Given the description of an element on the screen output the (x, y) to click on. 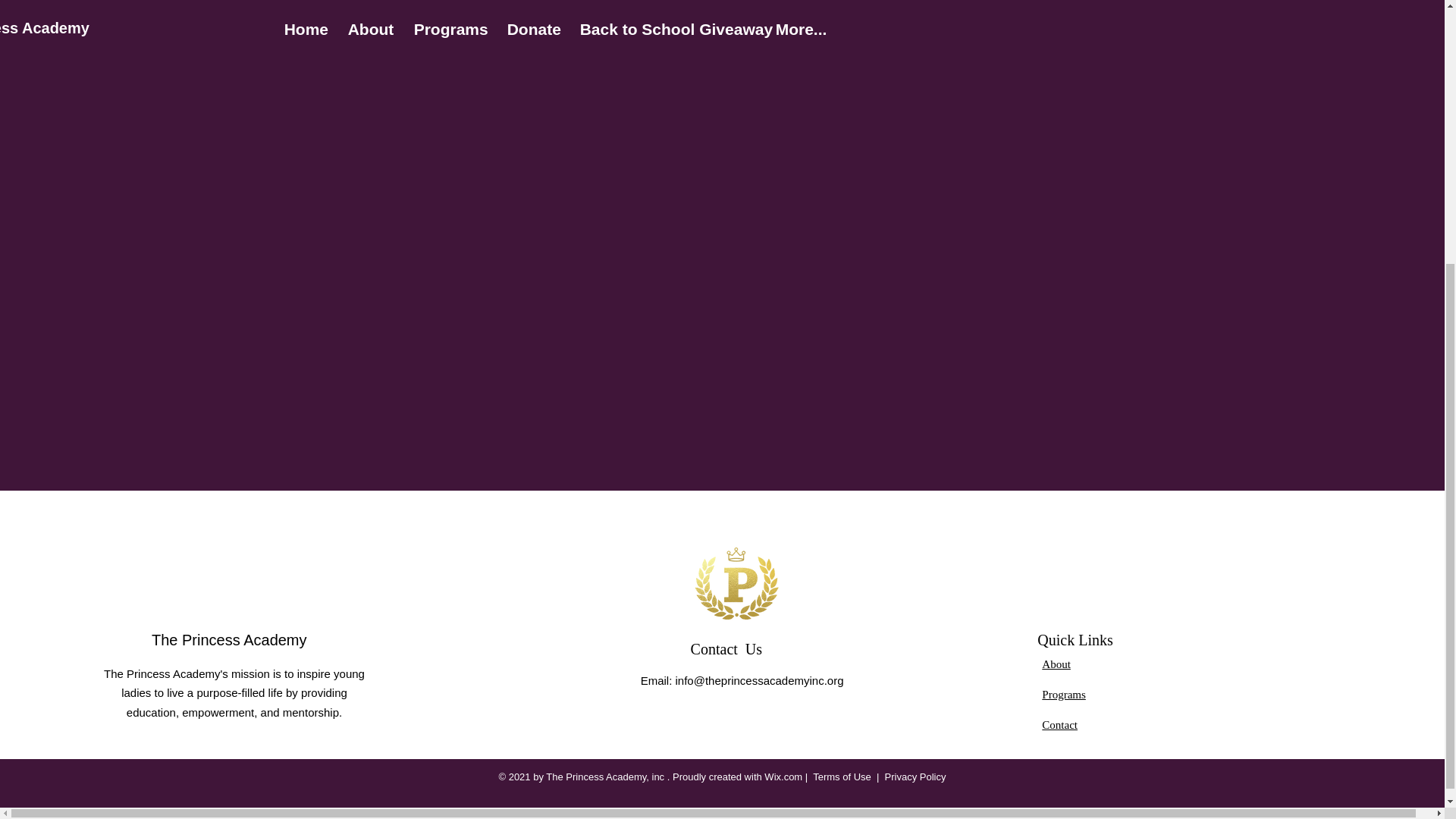
Terms of Use (841, 776)
Wix.com (783, 776)
About (1056, 663)
Privacy Policy (915, 776)
Contact (1059, 724)
Programs (1064, 694)
